Given the description of an element on the screen output the (x, y) to click on. 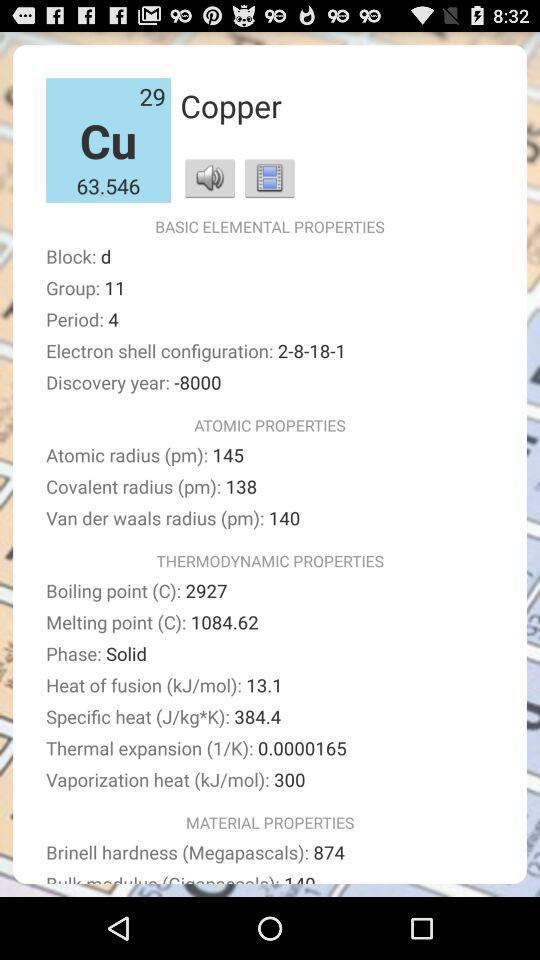
open app below the copper item (269, 177)
